Given the description of an element on the screen output the (x, y) to click on. 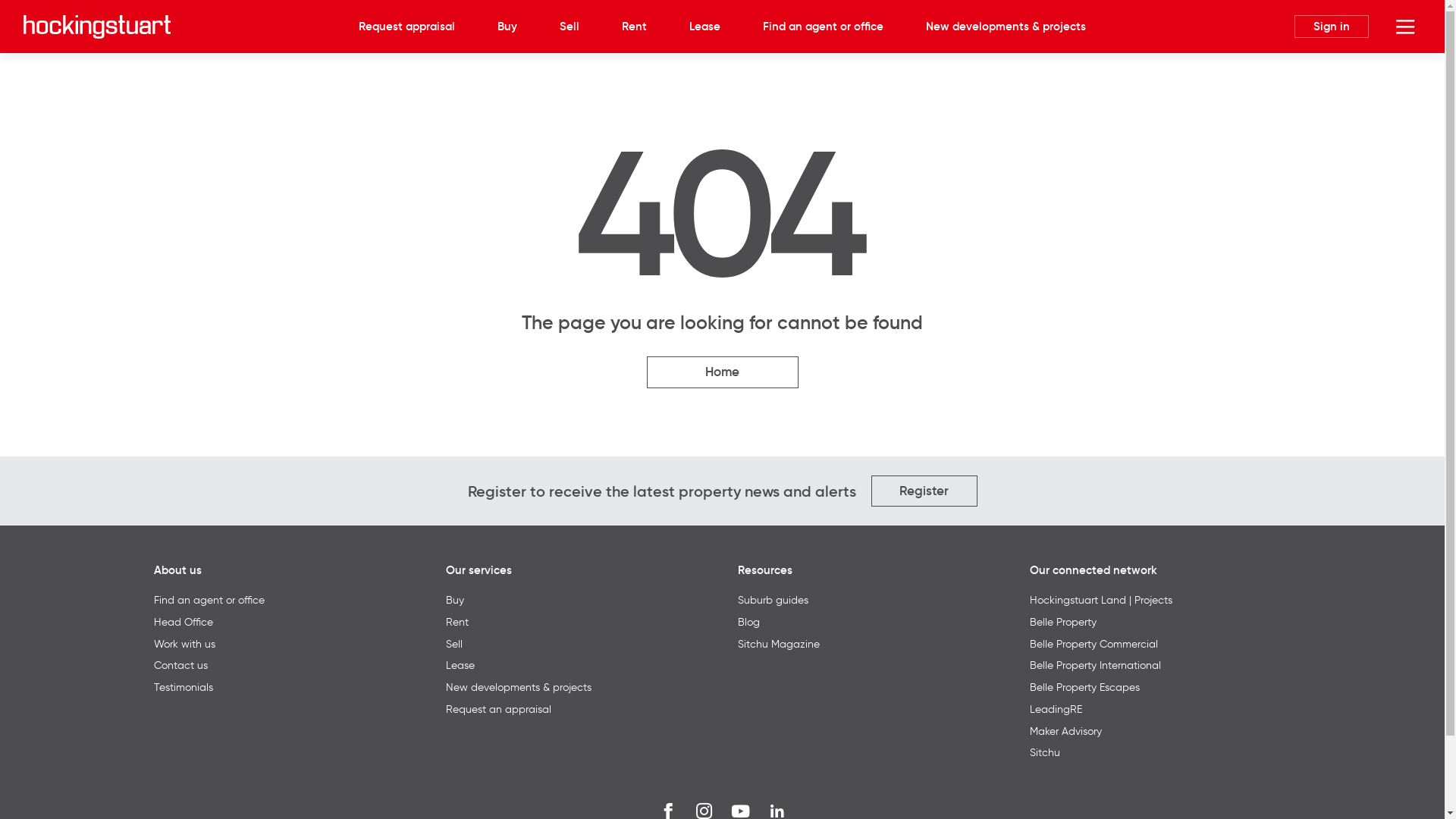
Sell Element type: text (569, 26)
Request an appraisal Element type: text (498, 708)
Find an agent or office Element type: text (208, 599)
Hockingstuart Land | Projects Element type: text (1100, 599)
Belle Property Escapes Element type: text (1084, 686)
Testimonials Element type: text (182, 686)
Lease Element type: text (704, 26)
New developments & projects Element type: text (1005, 26)
Belle Property International Element type: text (1095, 664)
Buy Element type: text (454, 599)
Find an agent or office Element type: text (823, 26)
Belle Property Commercial Element type: text (1093, 643)
Blog Element type: text (748, 621)
Rent Element type: text (634, 26)
Home Element type: text (721, 372)
Sitchu Element type: text (1044, 752)
Belle Property Element type: text (1062, 621)
Sitchu Magazine Element type: text (778, 643)
Request appraisal Element type: text (406, 26)
New developments & projects Element type: text (518, 686)
Sell Element type: text (453, 643)
Rent Element type: text (456, 621)
Buy Element type: text (506, 26)
Register Element type: text (923, 491)
Work with us Element type: text (183, 643)
Maker Advisory Element type: text (1065, 730)
Head Office Element type: text (182, 621)
Contact us Element type: text (180, 664)
LeadingRE Element type: text (1055, 708)
Lease Element type: text (459, 664)
Suburb guides Element type: text (772, 599)
